Given the description of an element on the screen output the (x, y) to click on. 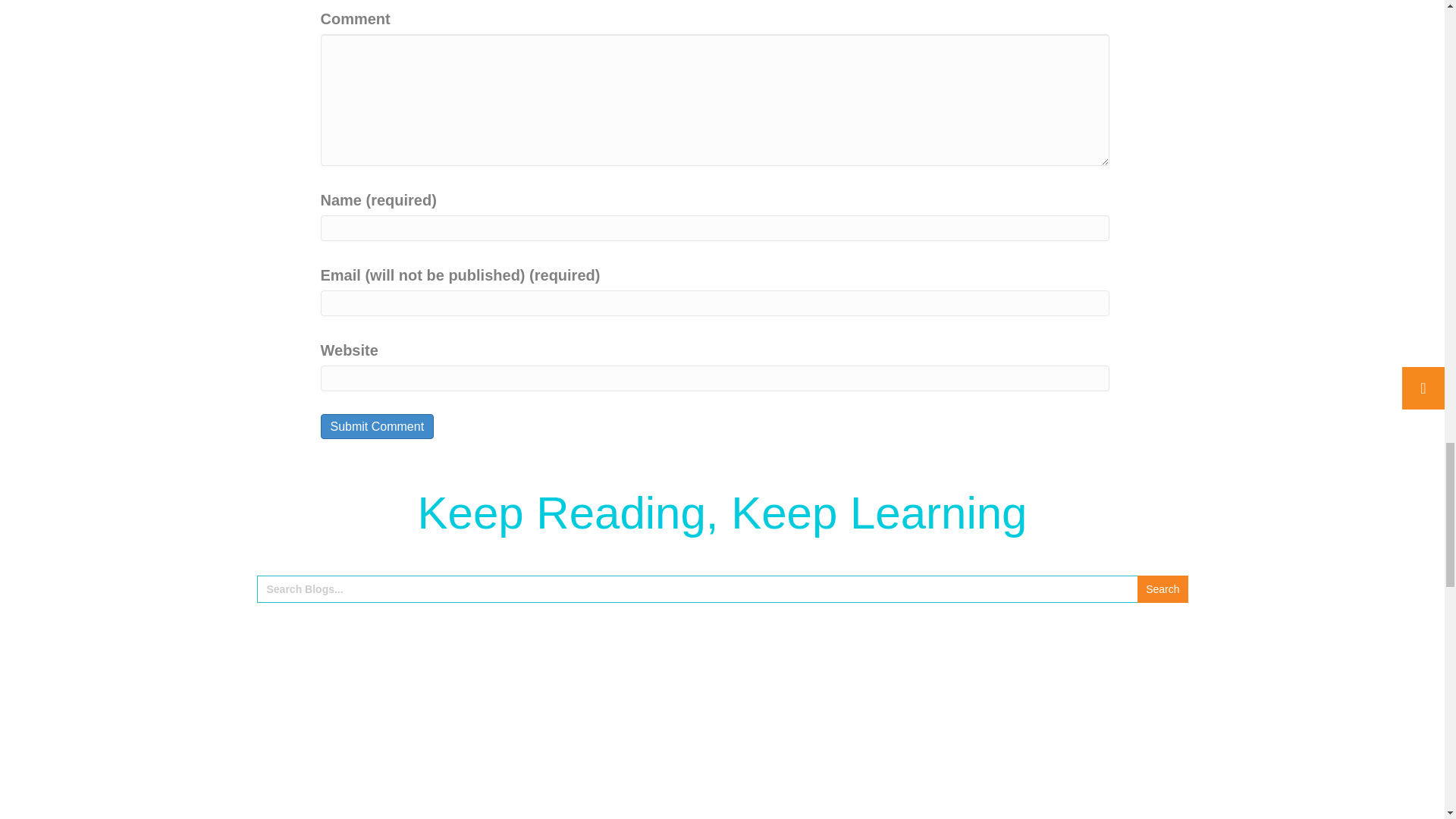
Search (1162, 588)
Search (1162, 588)
Submit Comment (376, 426)
Submit Comment (376, 426)
Search (1162, 588)
